Given the description of an element on the screen output the (x, y) to click on. 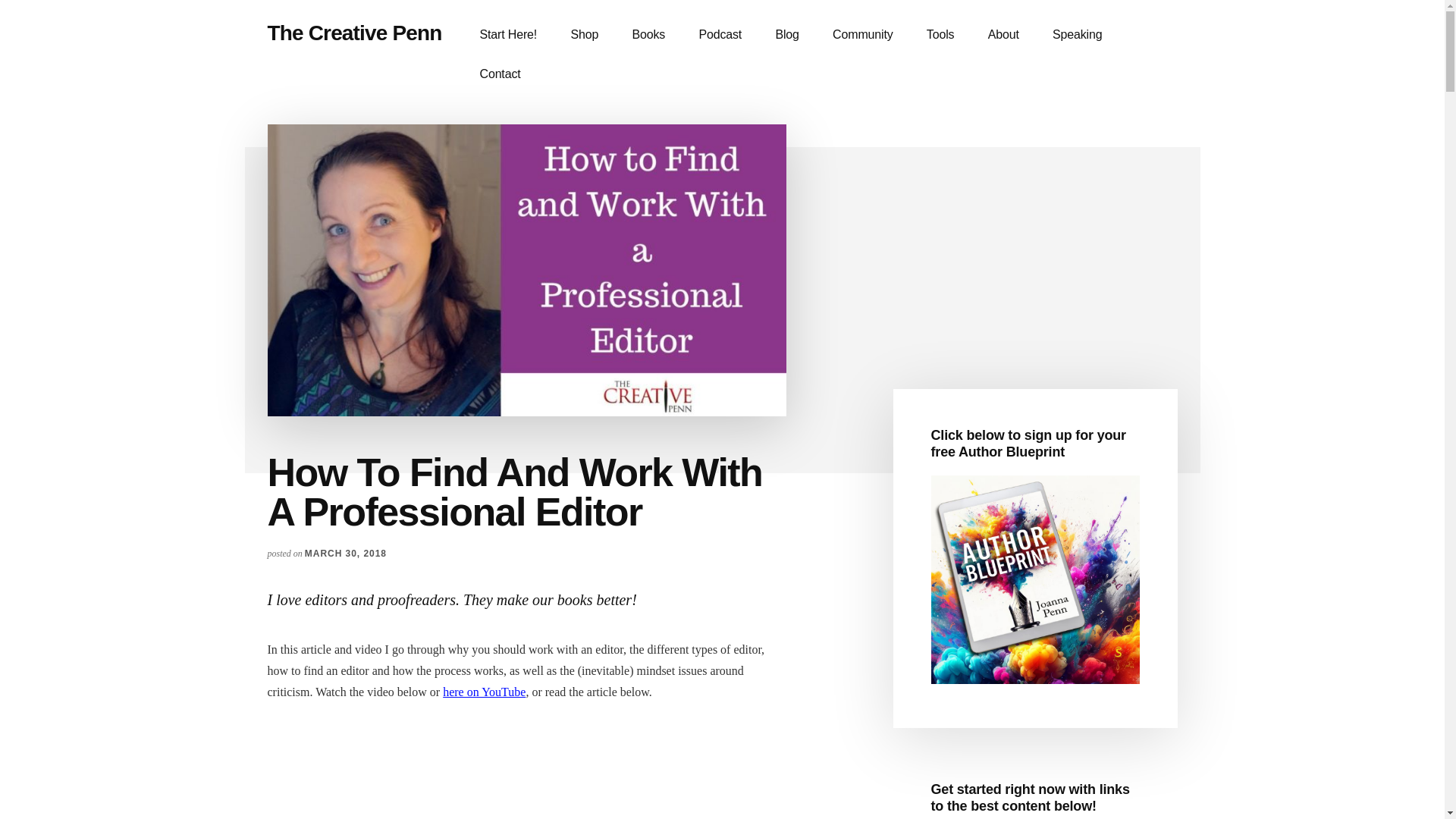
About (1002, 34)
Community (861, 34)
here on YouTube (483, 691)
Tools (940, 34)
Contact (499, 74)
Podcast (719, 34)
Shop (583, 34)
Blog (786, 34)
Books (647, 34)
Speaking (1076, 34)
Start Here! (507, 34)
The Creative Penn (353, 33)
